Given the description of an element on the screen output the (x, y) to click on. 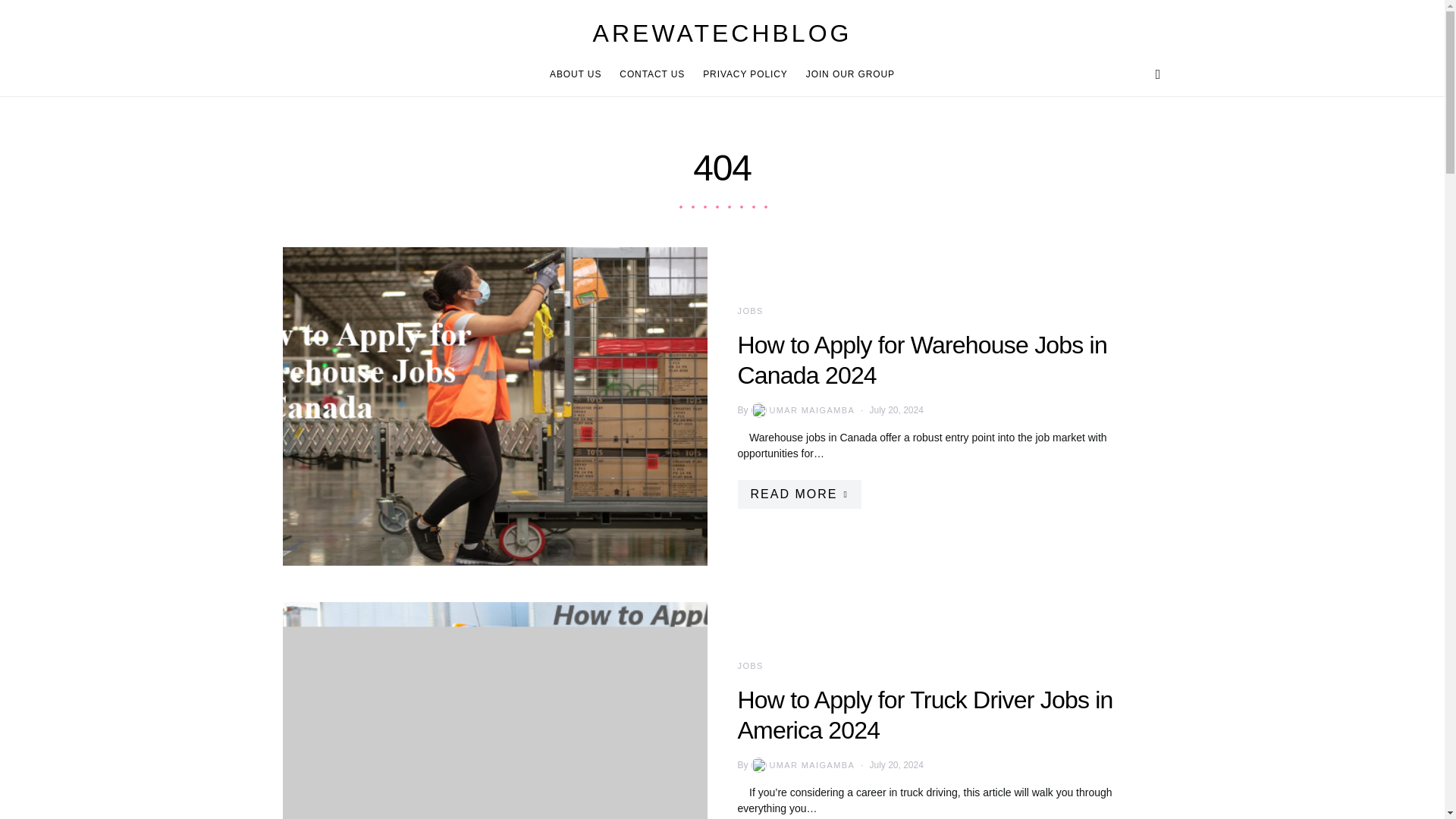
How to Apply for Truck Driver Jobs in America 2024 (924, 714)
How to Apply for Warehouse Jobs in Canada 2024 (921, 360)
AREWATECHBLOG (721, 33)
View all posts by Umar Maigamba (802, 409)
READ MORE (798, 493)
UMAR MAIGAMBA (802, 409)
View all posts by Umar Maigamba (802, 765)
PRIVACY POLICY (745, 74)
JOIN OUR GROUP (845, 74)
CONTACT US (652, 74)
